Given the description of an element on the screen output the (x, y) to click on. 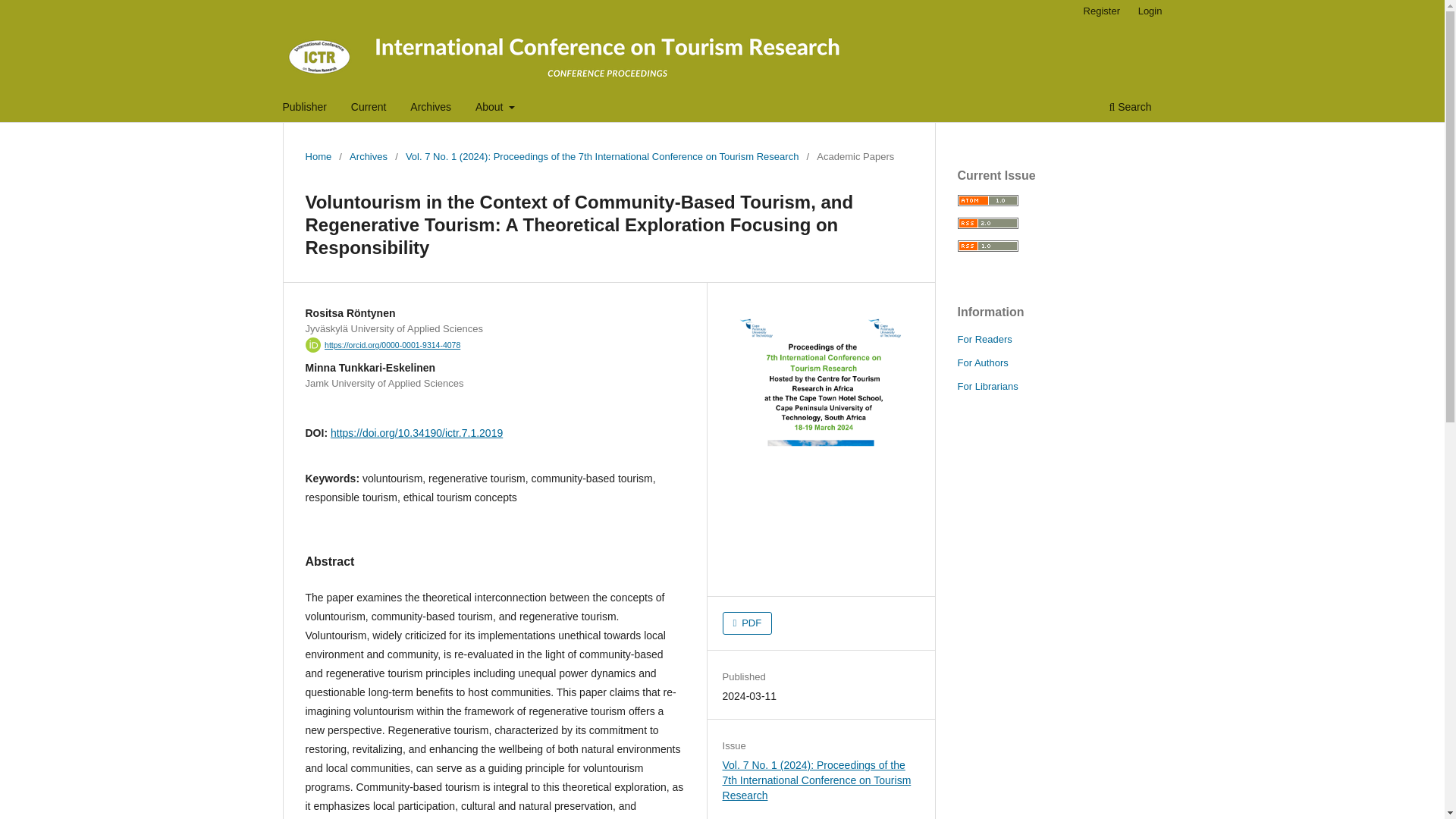
Archives (368, 156)
For Readers (983, 338)
Register (1100, 11)
Archives (430, 108)
Login (1150, 11)
Publisher (304, 108)
About (494, 108)
Current (368, 108)
PDF (747, 622)
Search (1129, 108)
